Given the description of an element on the screen output the (x, y) to click on. 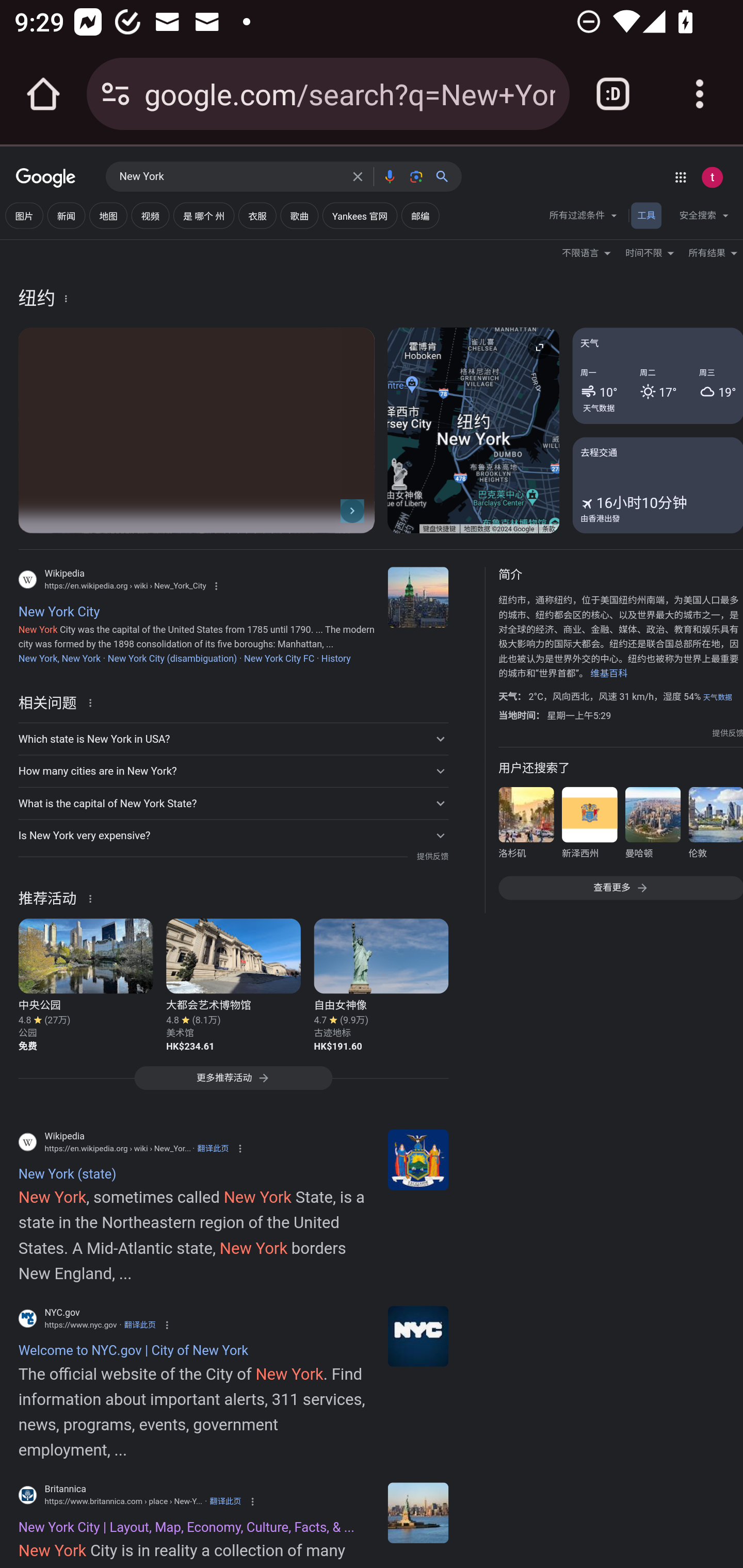
Open the home page (43, 93)
Connection is secure (115, 93)
Switch or close tabs (612, 93)
Customize and control Google Chrome (699, 93)
清除 (357, 176)
按语音搜索 (389, 176)
按图搜索 (415, 176)
搜索 (446, 176)
Google 应用 (680, 176)
Google 账号： test appium (testappium002@gmail.com) (712, 176)
Google (45, 178)
New York (229, 177)
图片 (24, 215)
新闻 (65, 215)
地图 (107, 215)
视频 (149, 215)
添加“是 哪个 州” 是 哪个 州 (203, 215)
添加“衣服” 衣服 (256, 215)
添加“歌曲” 歌曲 (299, 215)
添加“Yankees 官网” Yankees 官网 (359, 215)
添加“邮编” 邮编 (420, 215)
所有过滤条件 (583, 217)
工具 (646, 215)
安全搜索 (703, 217)
更多选项 (65, 298)
天气 周一 高温 10 度 周二 高温 17 度 周三 高温 19 度 (657, 375)
展开地图 (539, 346)
天气数据 (599, 407)
去程交通 16小时10分钟 乘坐飞机 由香港出發 (657, 484)
下一张图片 (352, 510)
New_York_City (417, 597)
New York, New York (58, 658)
New York City (disambiguation) (171, 658)
New York City FC (278, 658)
History (335, 658)
维基百科 (608, 672)
天气数据 (717, 697)
关于这条结果的详细信息 (93, 701)
Which state is New York in USA? (232, 738)
提供反馈 (727, 733)
How many cities are in New York? (232, 770)
洛杉矶 (526, 826)
新泽西州 (588, 826)
曼哈顿 (652, 826)
伦敦 (715, 826)
What is the capital of New York State? (232, 803)
Is New York very expensive? (232, 835)
提供反馈 (432, 856)
查看更多 查看更多 查看更多 (620, 887)
关于这条结果的详细信息 (93, 897)
更多推荐活动 (232, 1082)
New_York_(state) (417, 1159)
翻译此页 (212, 1148)
www.nyc (417, 1336)
翻译此页 (140, 1324)
New-York-City (417, 1511)
翻译此页 (225, 1501)
